Given the description of an element on the screen output the (x, y) to click on. 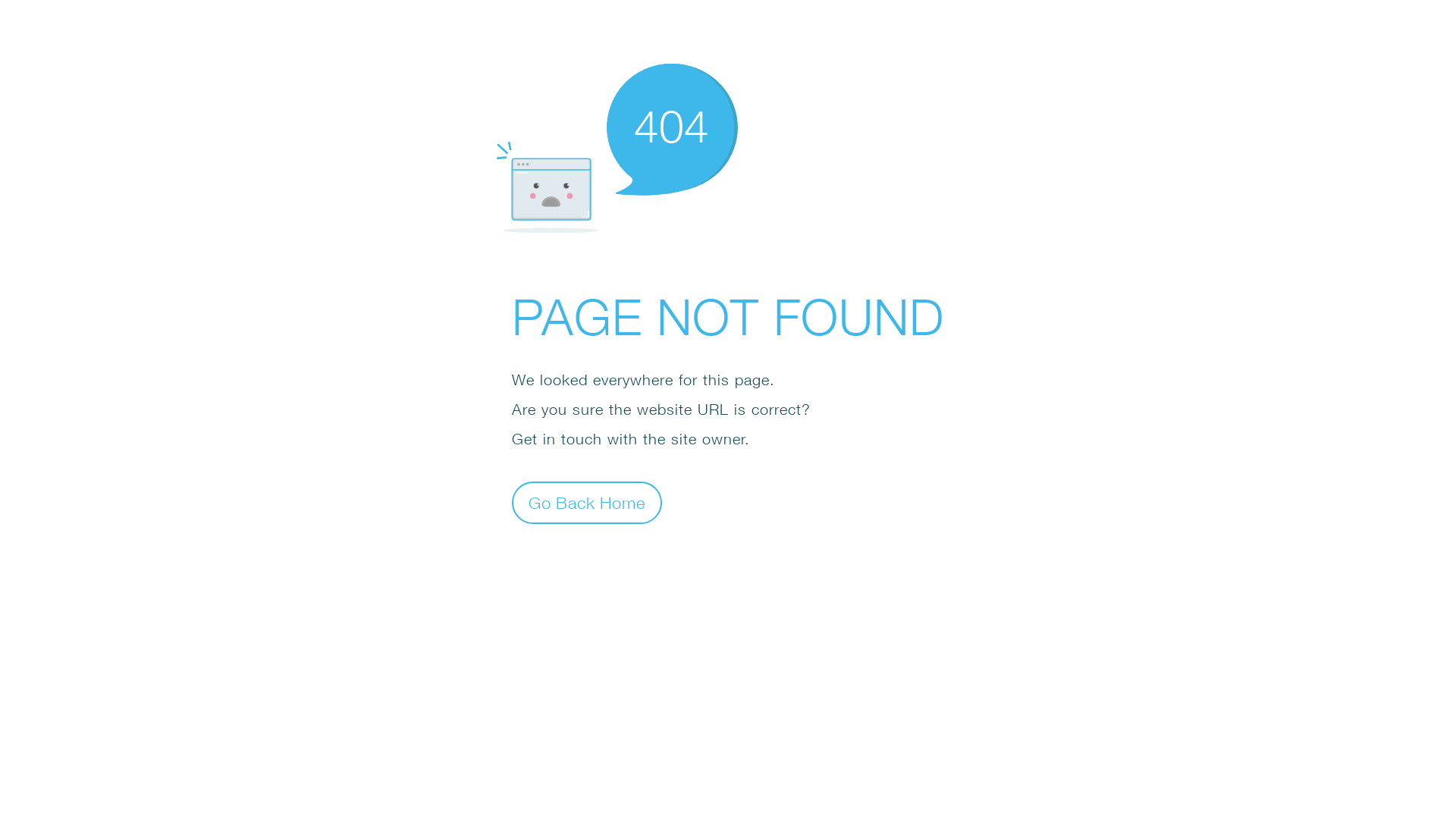
Go Back Home Element type: text (586, 502)
